Given the description of an element on the screen output the (x, y) to click on. 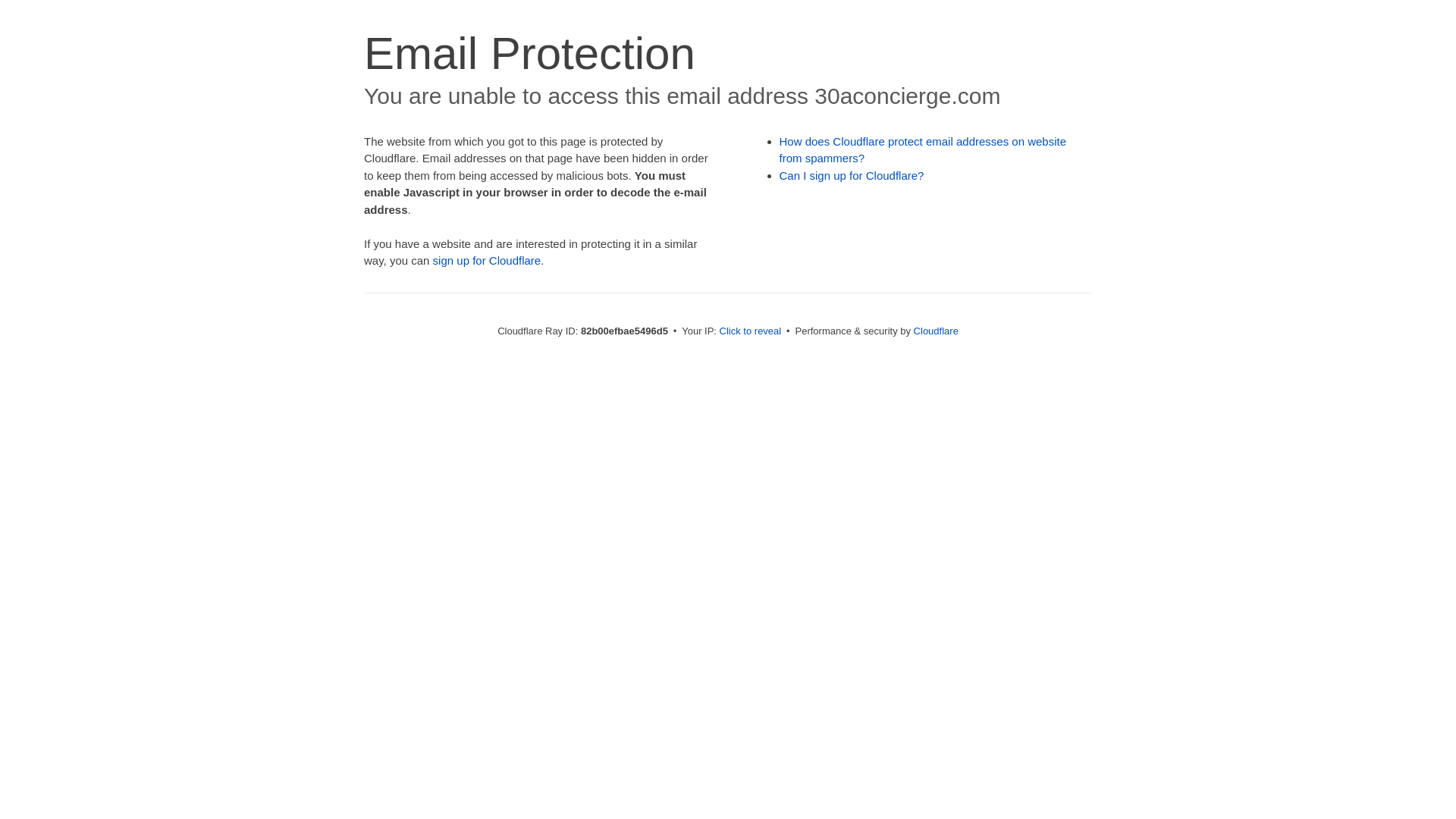
Can I sign up for Cloudflare? Element type: text (851, 175)
sign up for Cloudflare Element type: text (487, 260)
Cloudflare Element type: text (935, 330)
Click to reveal Element type: text (750, 330)
